Given the description of an element on the screen output the (x, y) to click on. 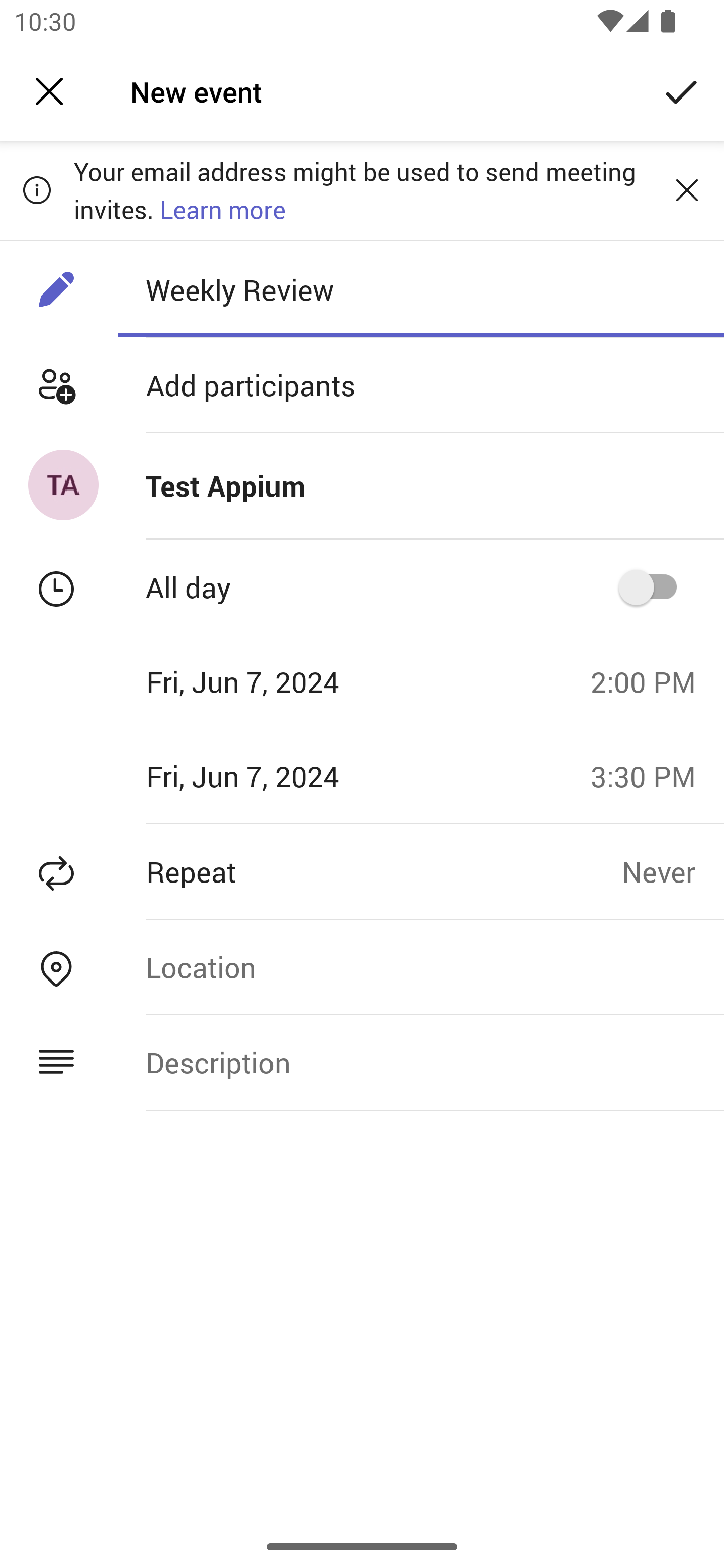
Back (49, 91)
Send invite (681, 90)
Dismiss banner (687, 189)
Weekly Review (420, 289)
Add participants Add participants option (362, 384)
All day (654, 586)
Fri, Jun 7, 2024 Starts Friday Jun 07, 2024 (288, 681)
2:00 PM Start time 2:00 PM (650, 681)
Fri, Jun 7, 2024 Ends Friday Jun 07, 2024 (288, 776)
3:30 PM End time 3:30 PM (650, 776)
Repeat (310, 871)
Never Repeat Never (672, 871)
Location (420, 967)
Description (420, 1062)
